Given the description of an element on the screen output the (x, y) to click on. 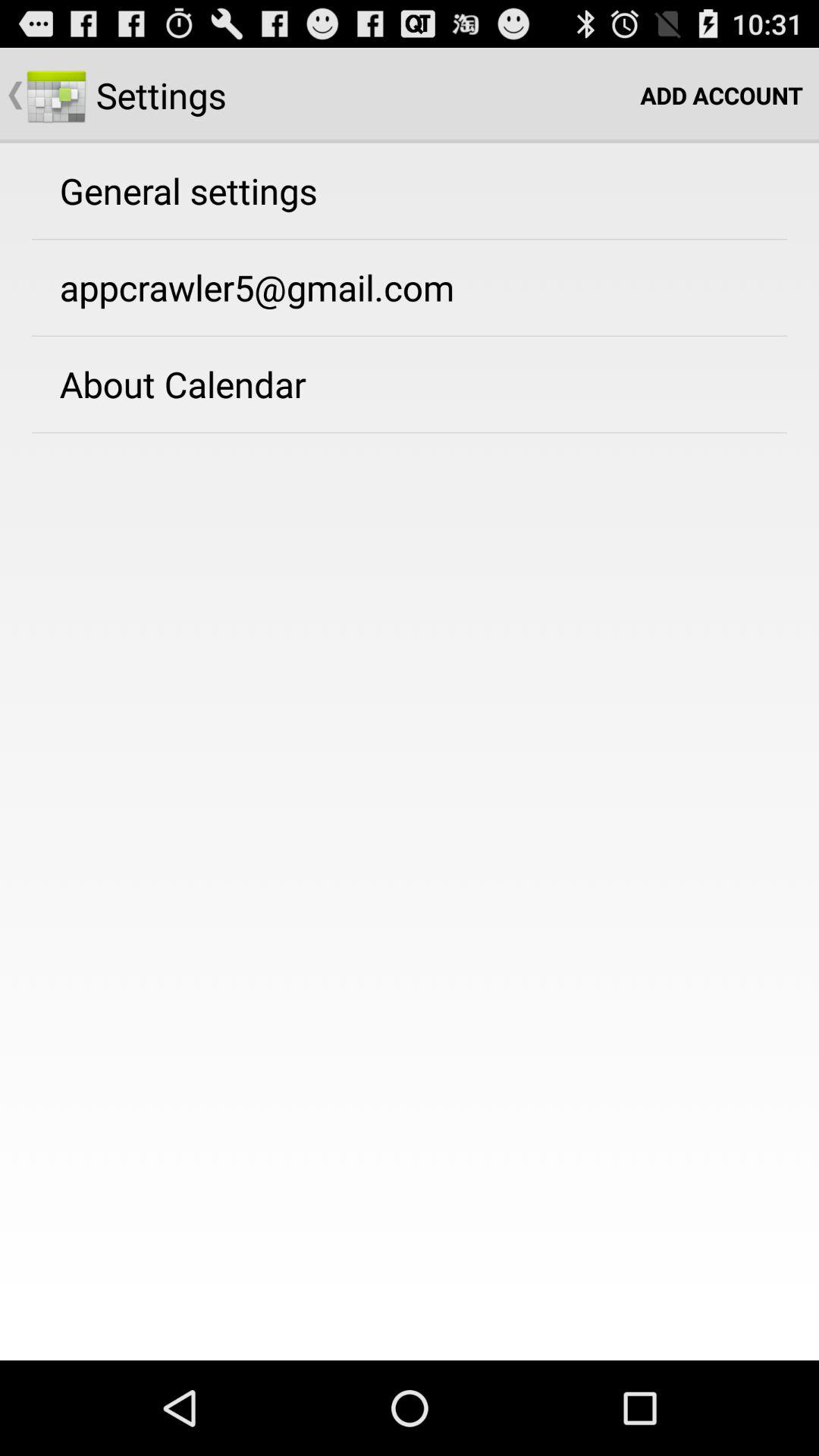
press add account item (721, 95)
